Given the description of an element on the screen output the (x, y) to click on. 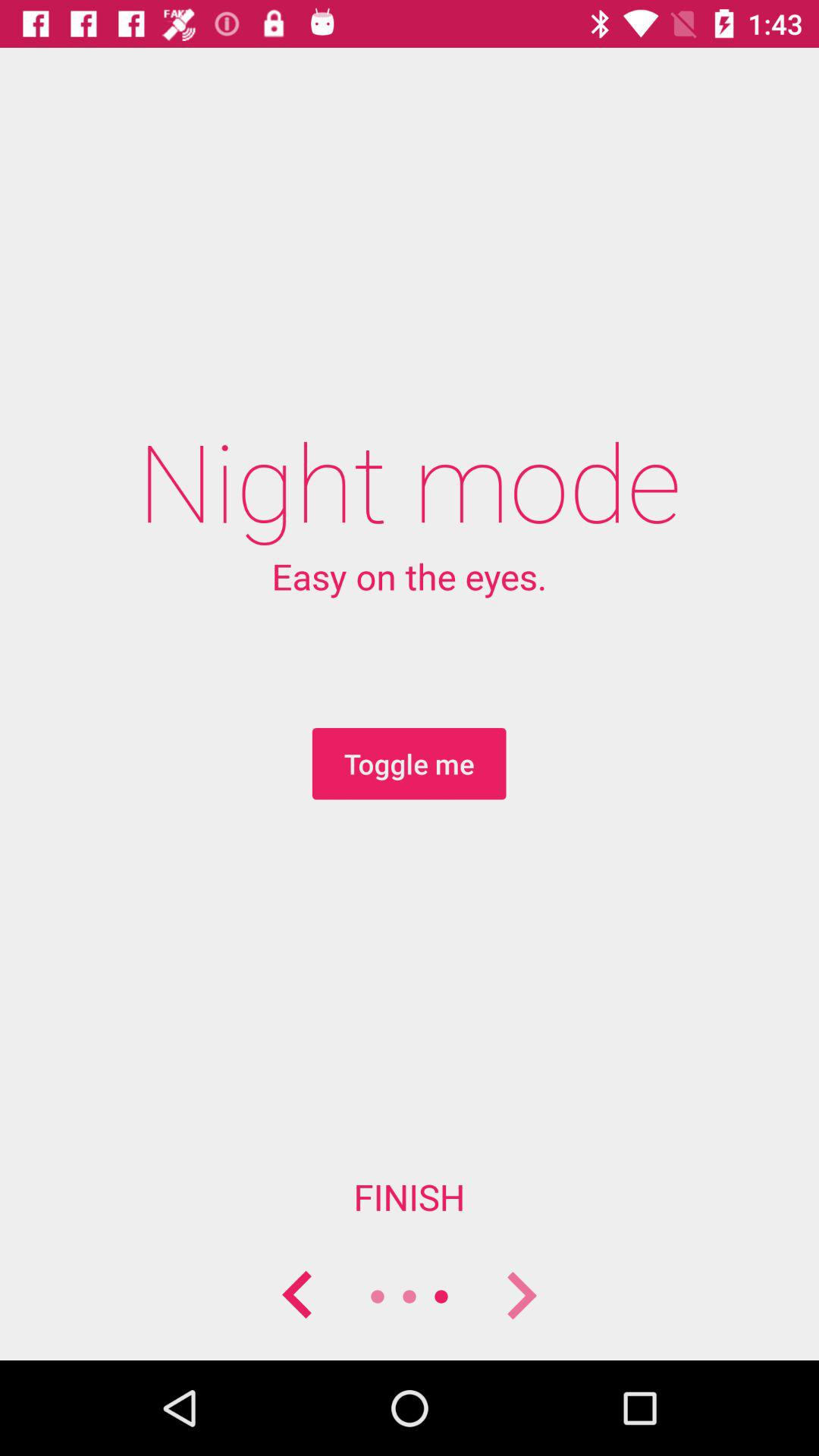
go back (297, 1296)
